Given the description of an element on the screen output the (x, y) to click on. 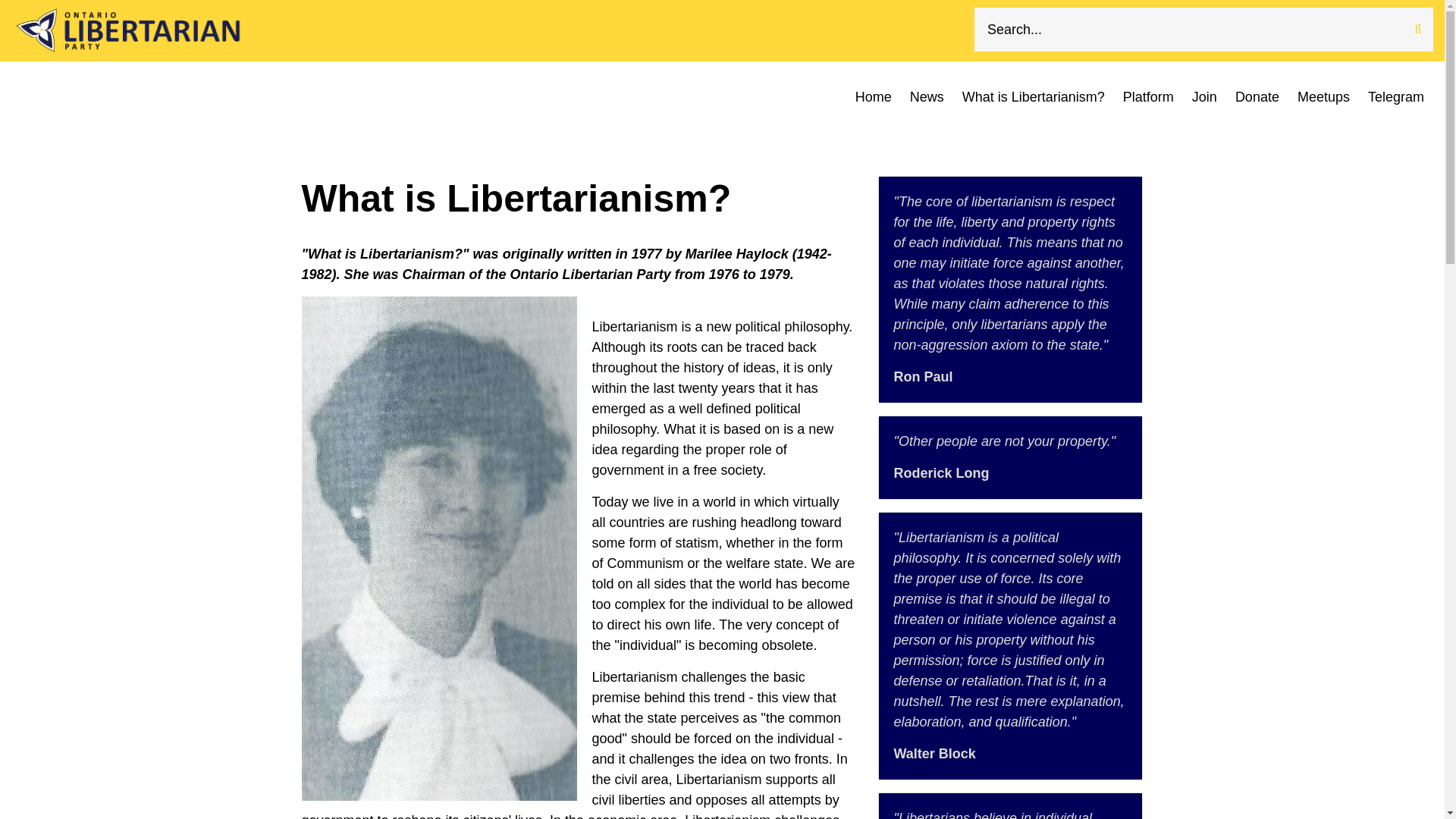
Platform (1147, 96)
Donate (1256, 96)
What is Libertarianism? (1033, 96)
Join Ontario Libertarian Members on Telegram (1395, 96)
Freedom of Choice (1147, 96)
Home (873, 96)
News (927, 96)
Telegram (1395, 96)
Join (1203, 96)
Meetups (1323, 96)
Enter the terms you wish to search for. (1203, 29)
